Given the description of an element on the screen output the (x, y) to click on. 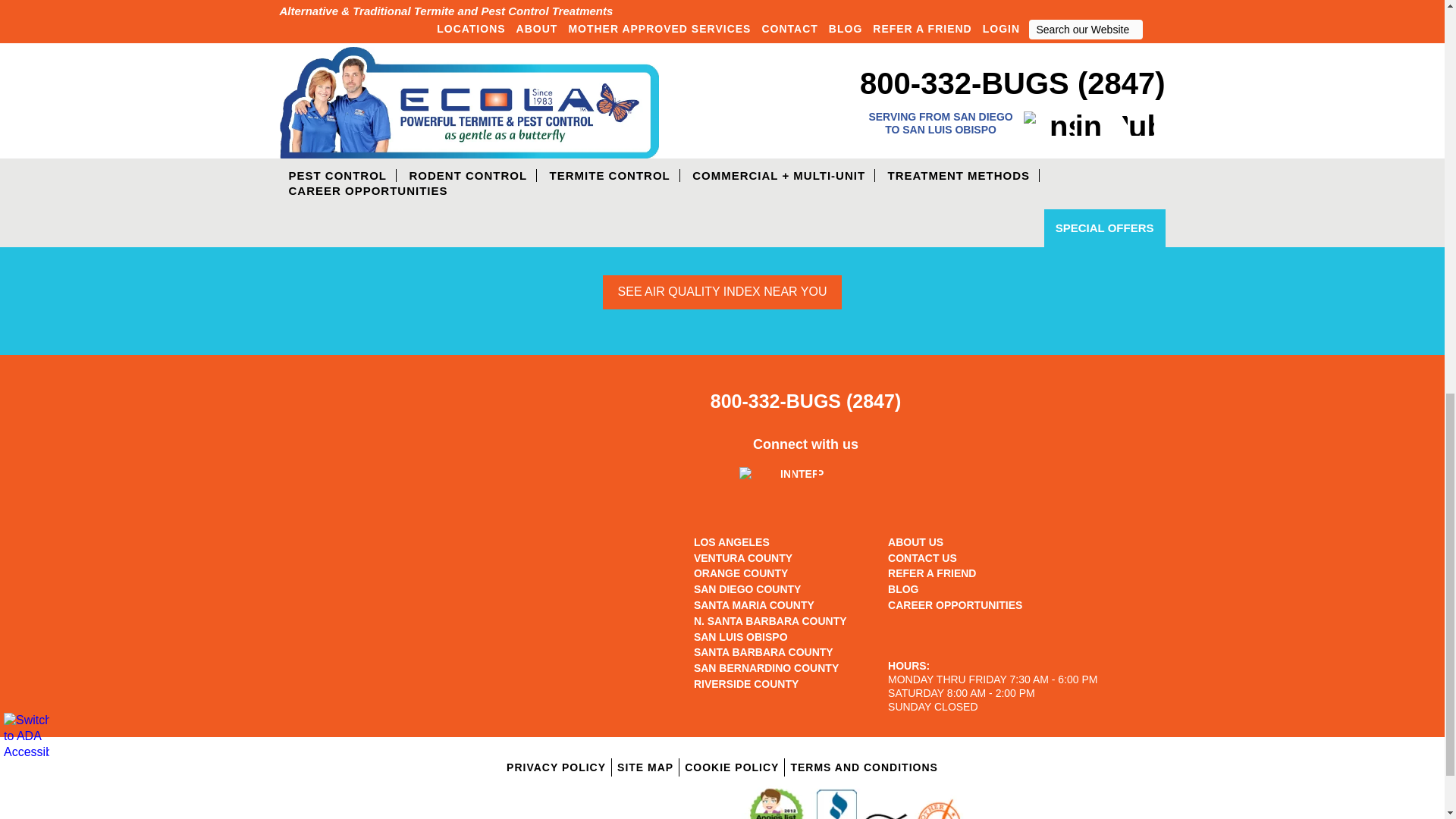
Facebook (307, 100)
LinkedIn (328, 100)
Twitter (318, 100)
2020-04-16T17:00:26-0700 (544, 129)
